Given the description of an element on the screen output the (x, y) to click on. 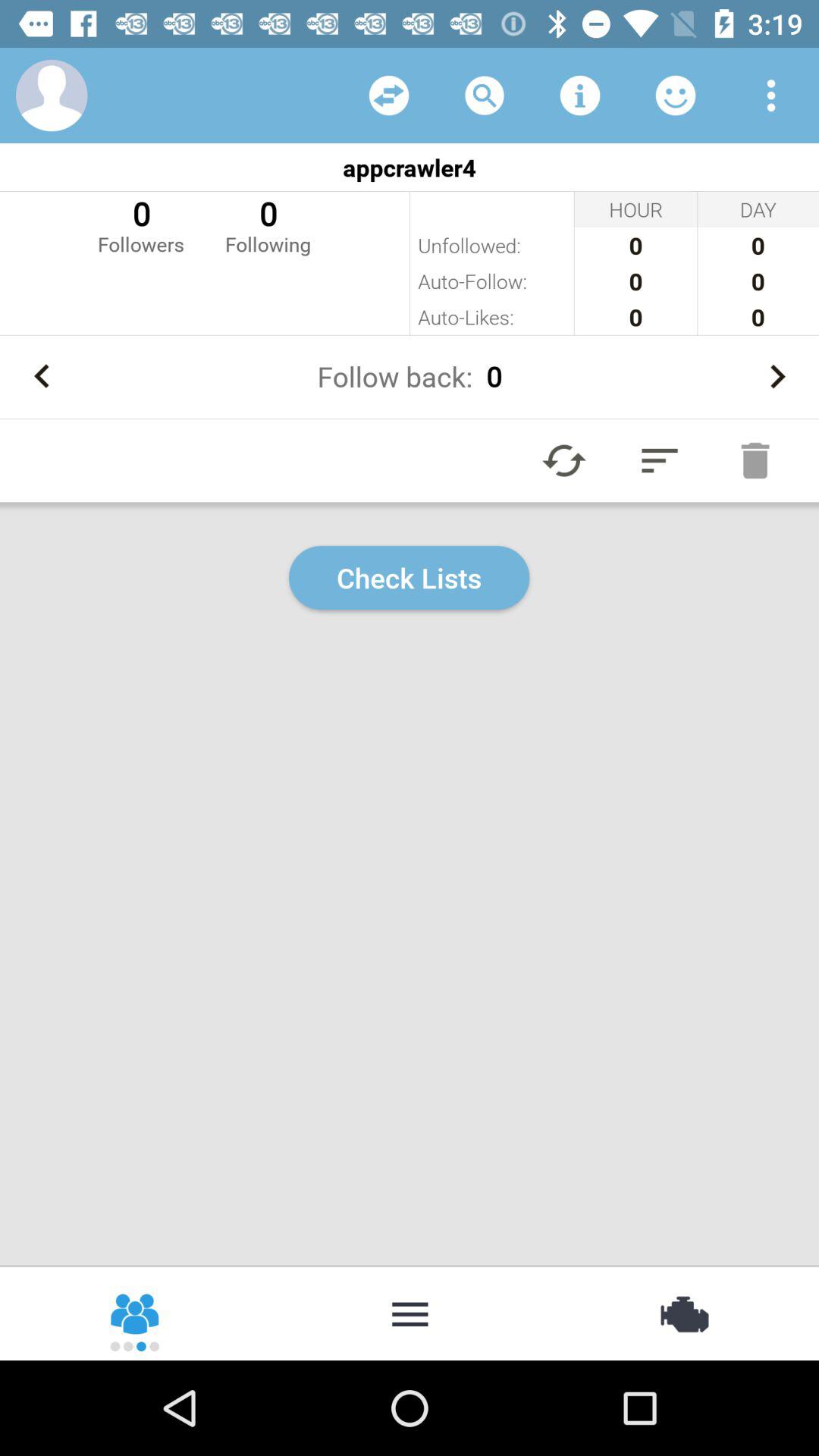
launch the item above the appcrawler4 icon (579, 95)
